Given the description of an element on the screen output the (x, y) to click on. 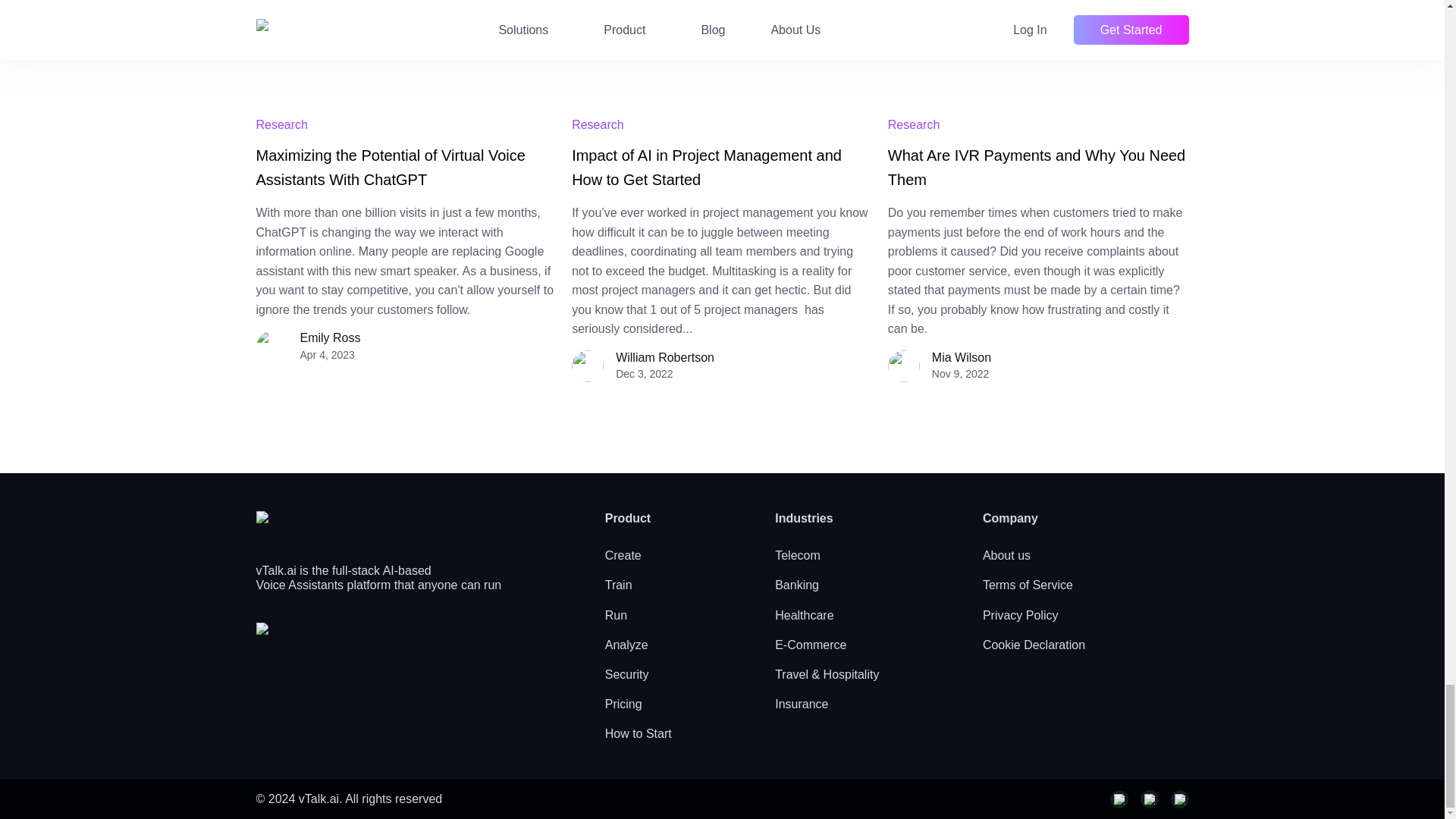
Insurance (801, 703)
How to Start (638, 733)
Emily Ross (330, 337)
Security (627, 674)
Pricing (623, 703)
Mia Wilson (961, 357)
Run (616, 615)
Train (618, 584)
Healthcare (803, 615)
William Robertson (664, 357)
